Given the description of an element on the screen output the (x, y) to click on. 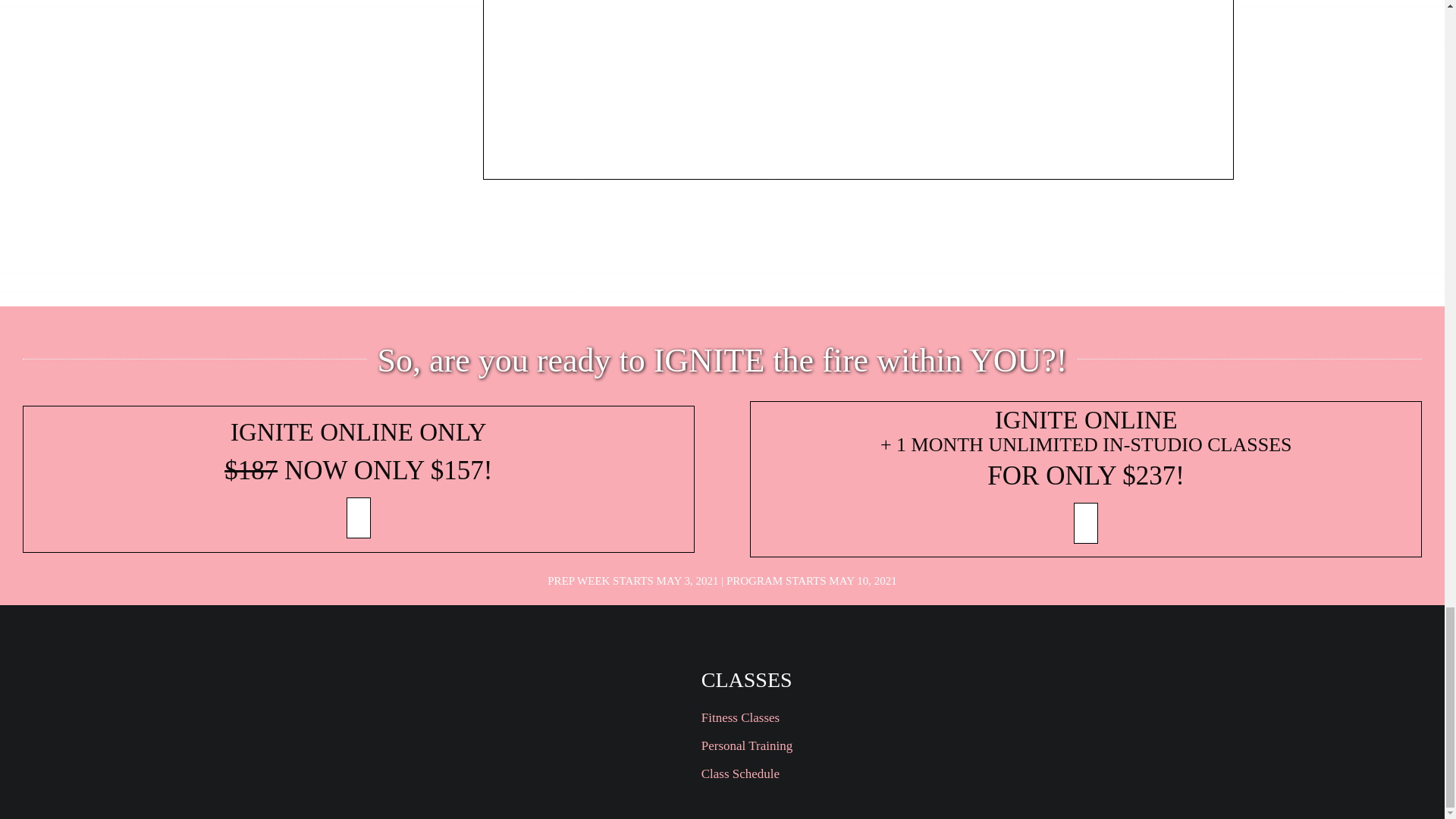
Personal Training (800, 746)
ohana-logo-white (607, 709)
Class Schedule (800, 774)
Fitness Classes (800, 718)
